Given the description of an element on the screen output the (x, y) to click on. 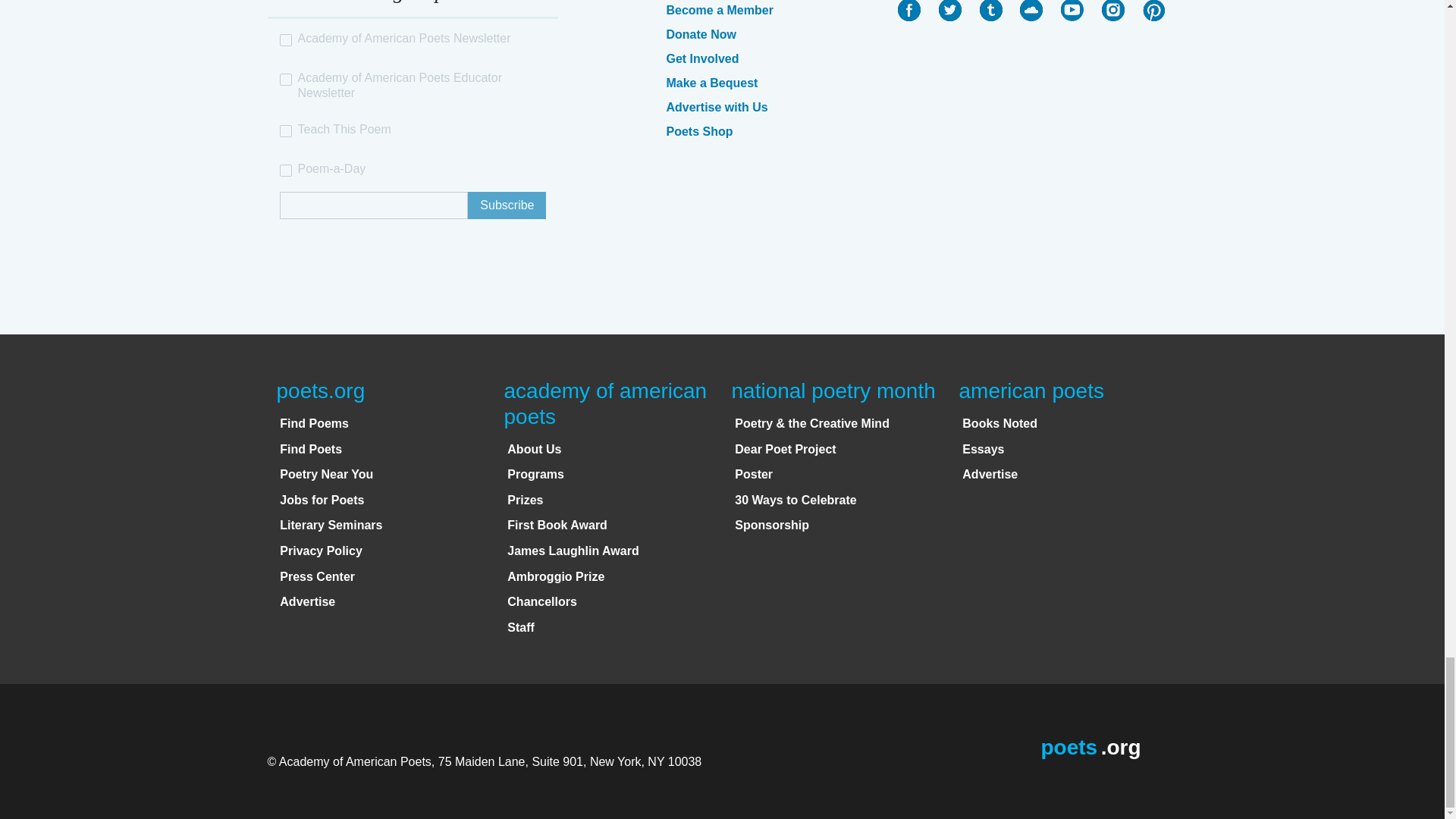
Privacy Policy (320, 550)
Literary Seminars (330, 524)
Poetry Near You (325, 473)
Press Center (317, 576)
Jobs for Poets (321, 499)
Subscribe (506, 205)
